Given the description of an element on the screen output the (x, y) to click on. 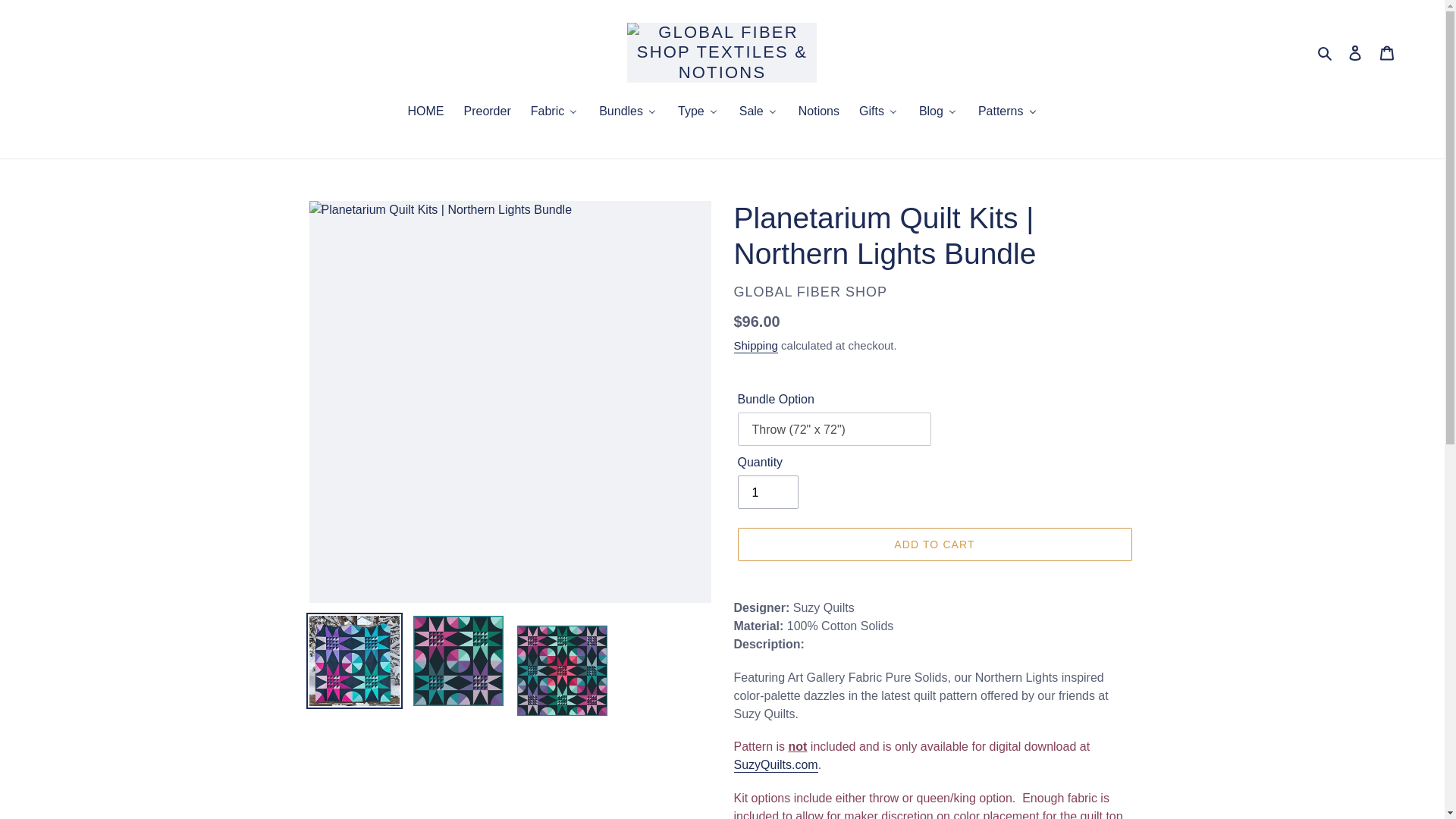
Log in (1355, 52)
Cart (1387, 52)
Search (1326, 53)
1 (766, 491)
